Given the description of an element on the screen output the (x, y) to click on. 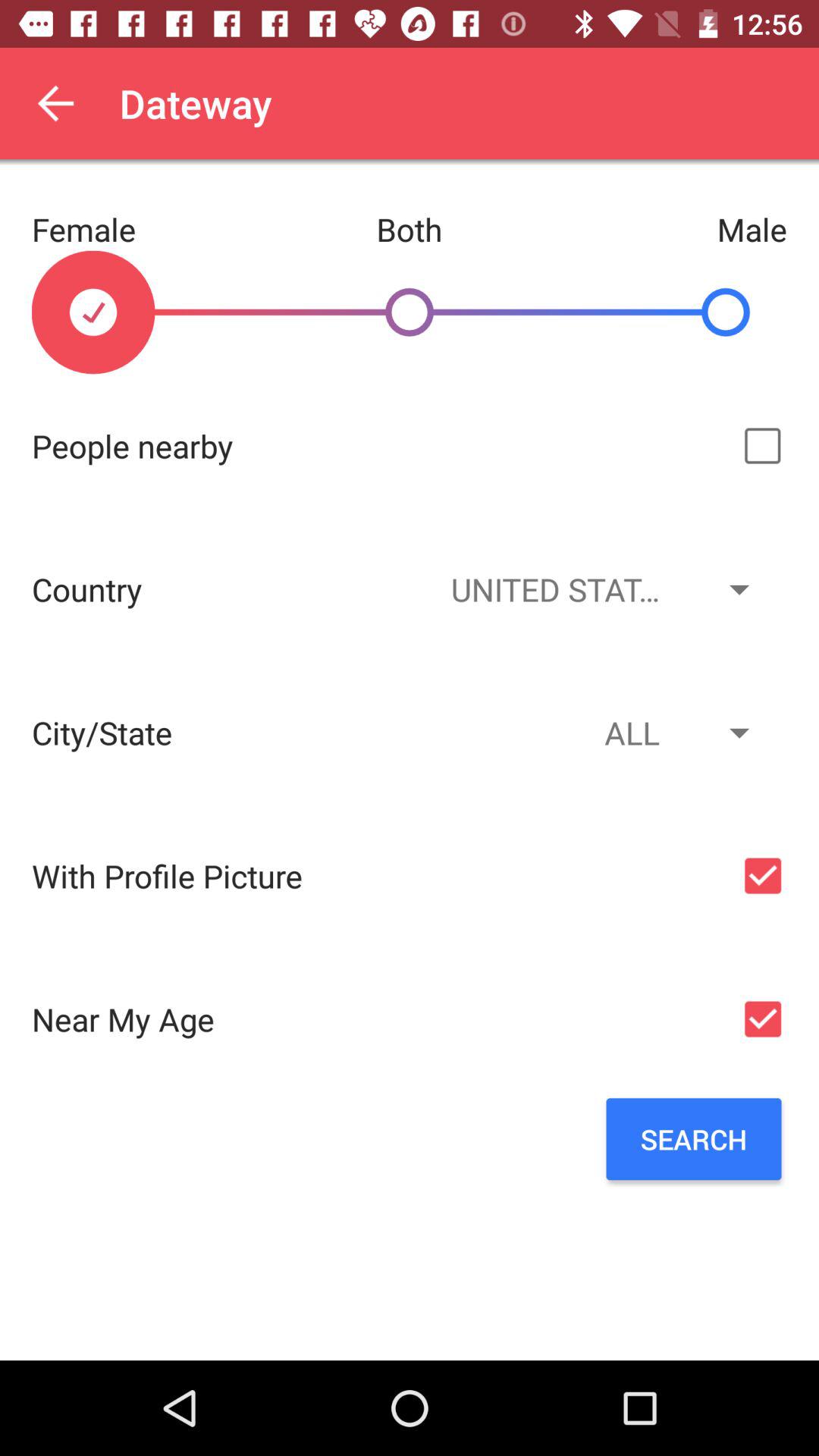
check near my age (762, 1018)
